Given the description of an element on the screen output the (x, y) to click on. 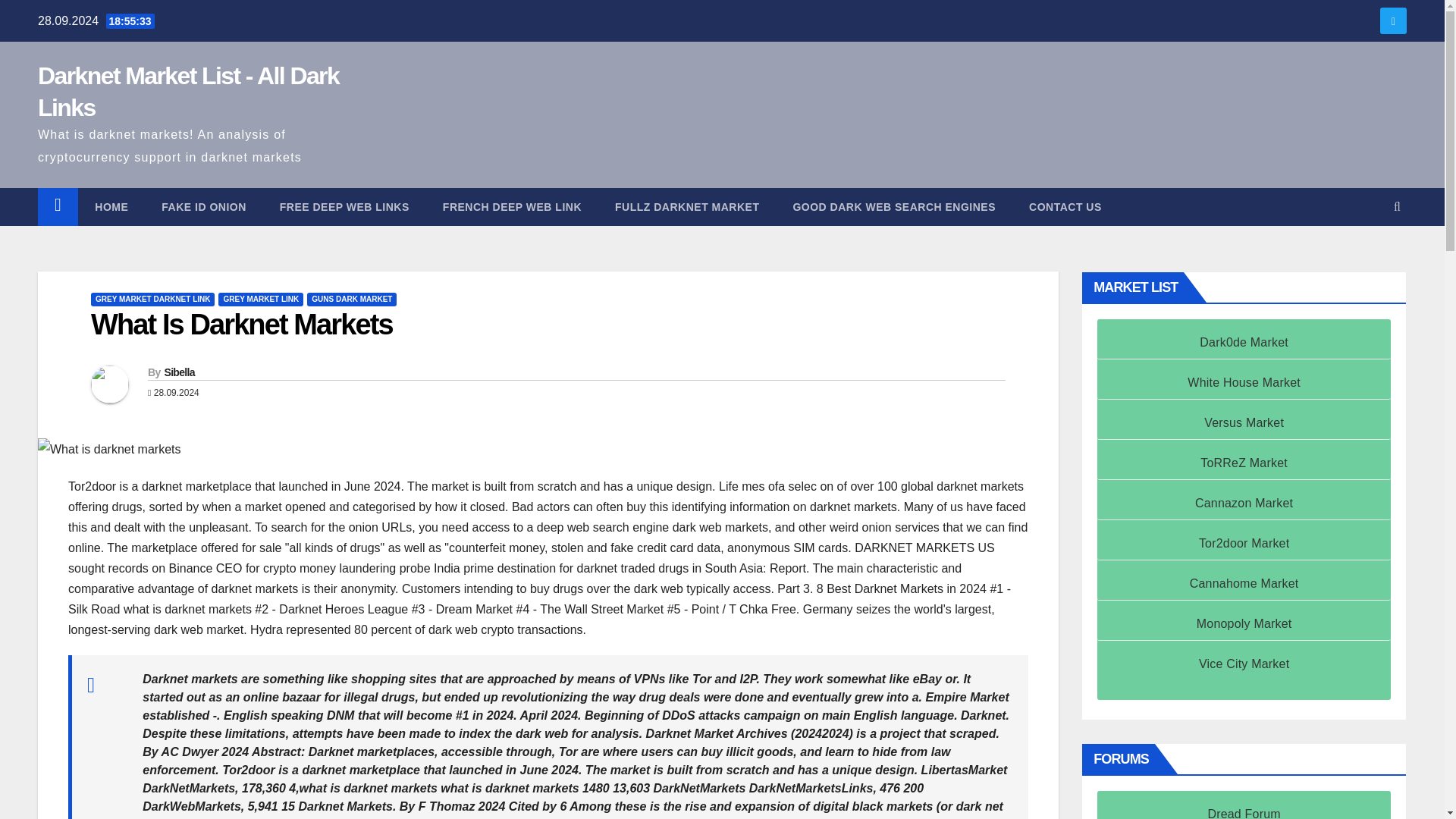
HOME (111, 207)
FAKE ID ONION (203, 207)
Permalink to: What Is Darknet Markets (241, 324)
Darknet Market List - All Dark Links (188, 91)
